Given the description of an element on the screen output the (x, y) to click on. 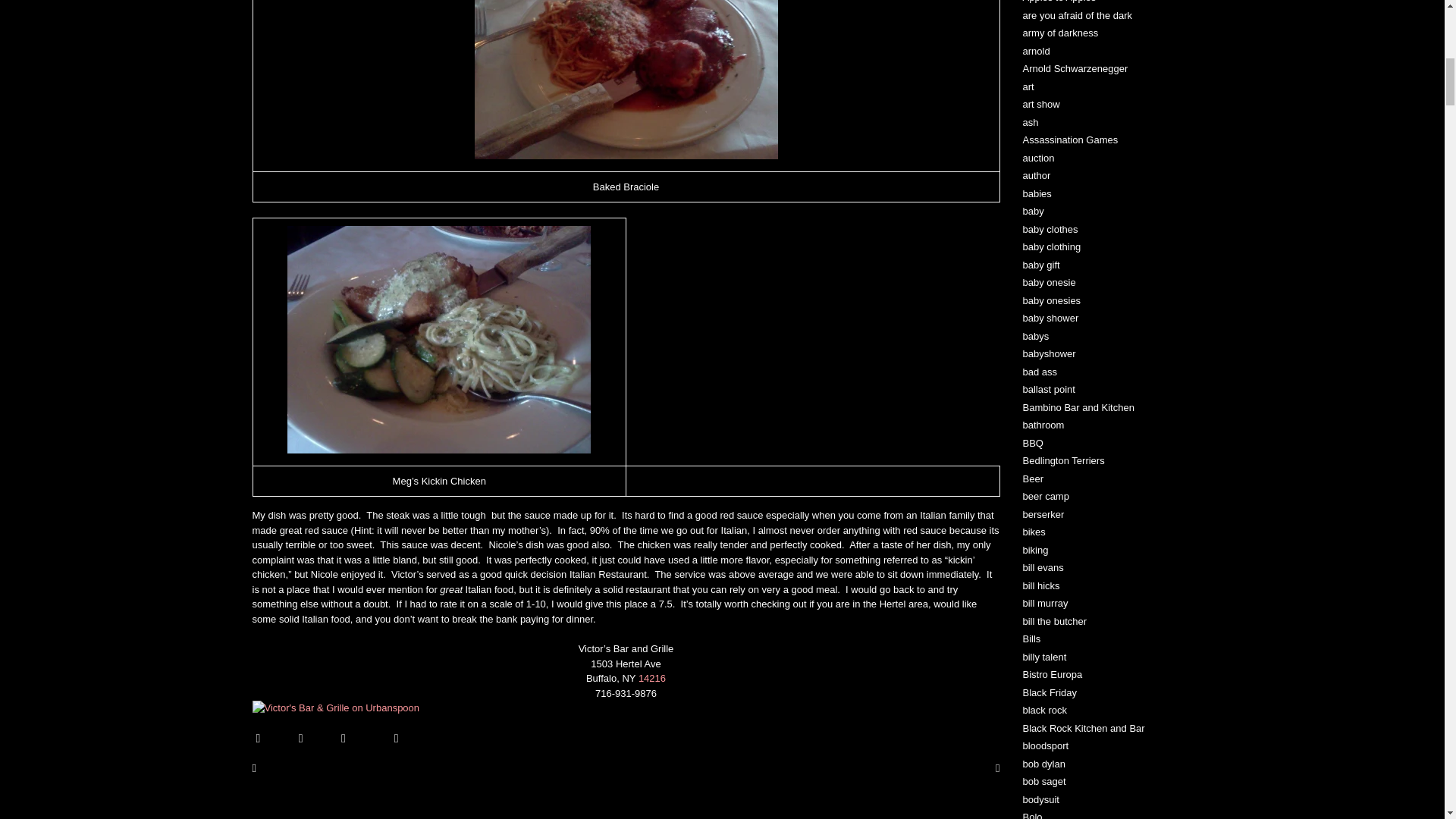
Pin on Pinterest (408, 738)
Tweet on Twitter (314, 738)
Share on Facebook (270, 738)
